Given the description of an element on the screen output the (x, y) to click on. 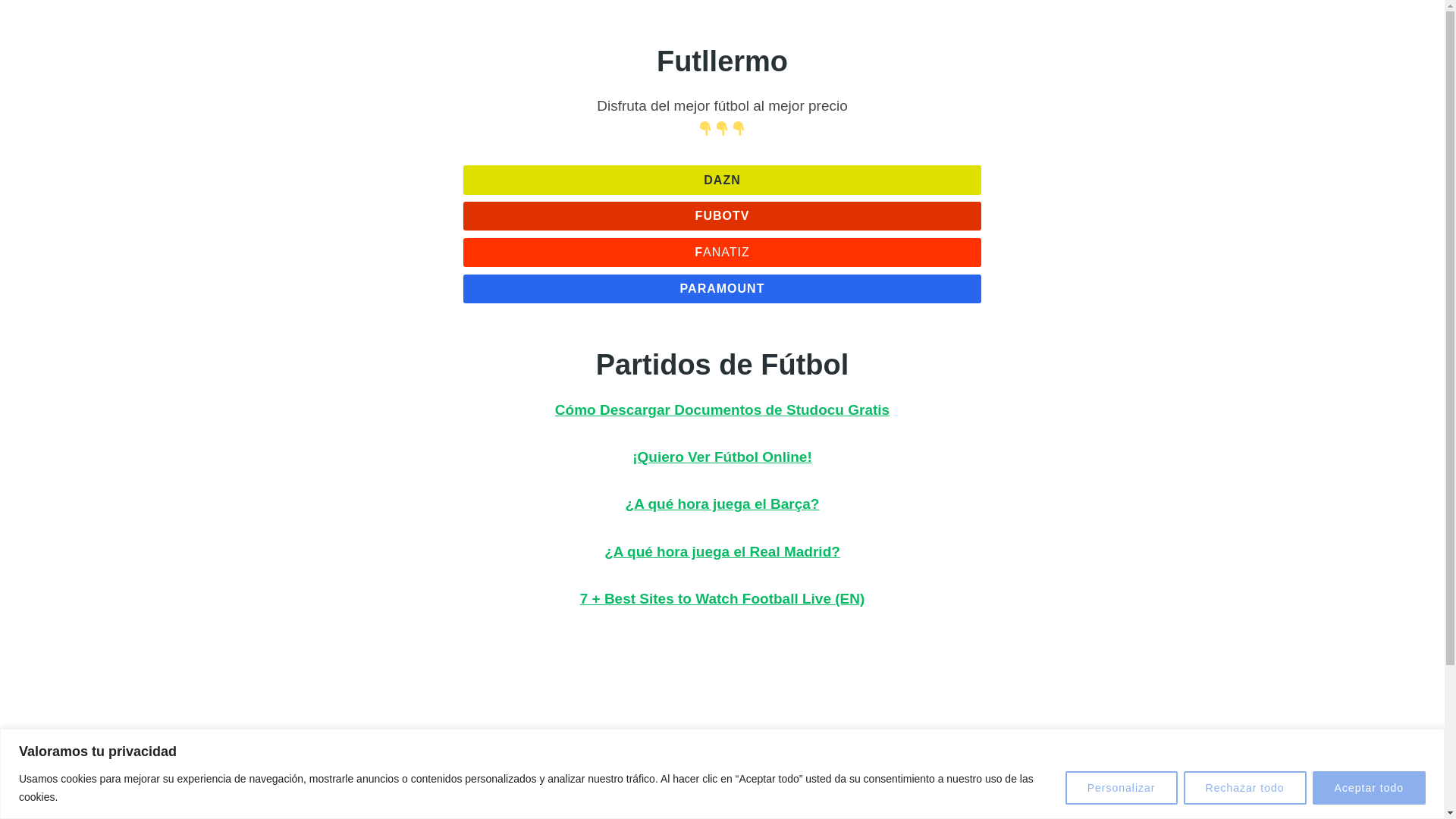
PARAMOUNT (722, 288)
Rechazar todo (1244, 786)
Personalizar (1121, 786)
Aceptar todo (1369, 786)
FANATIZ (722, 252)
DAZN (722, 179)
FUBOTV (722, 215)
